Given the description of an element on the screen output the (x, y) to click on. 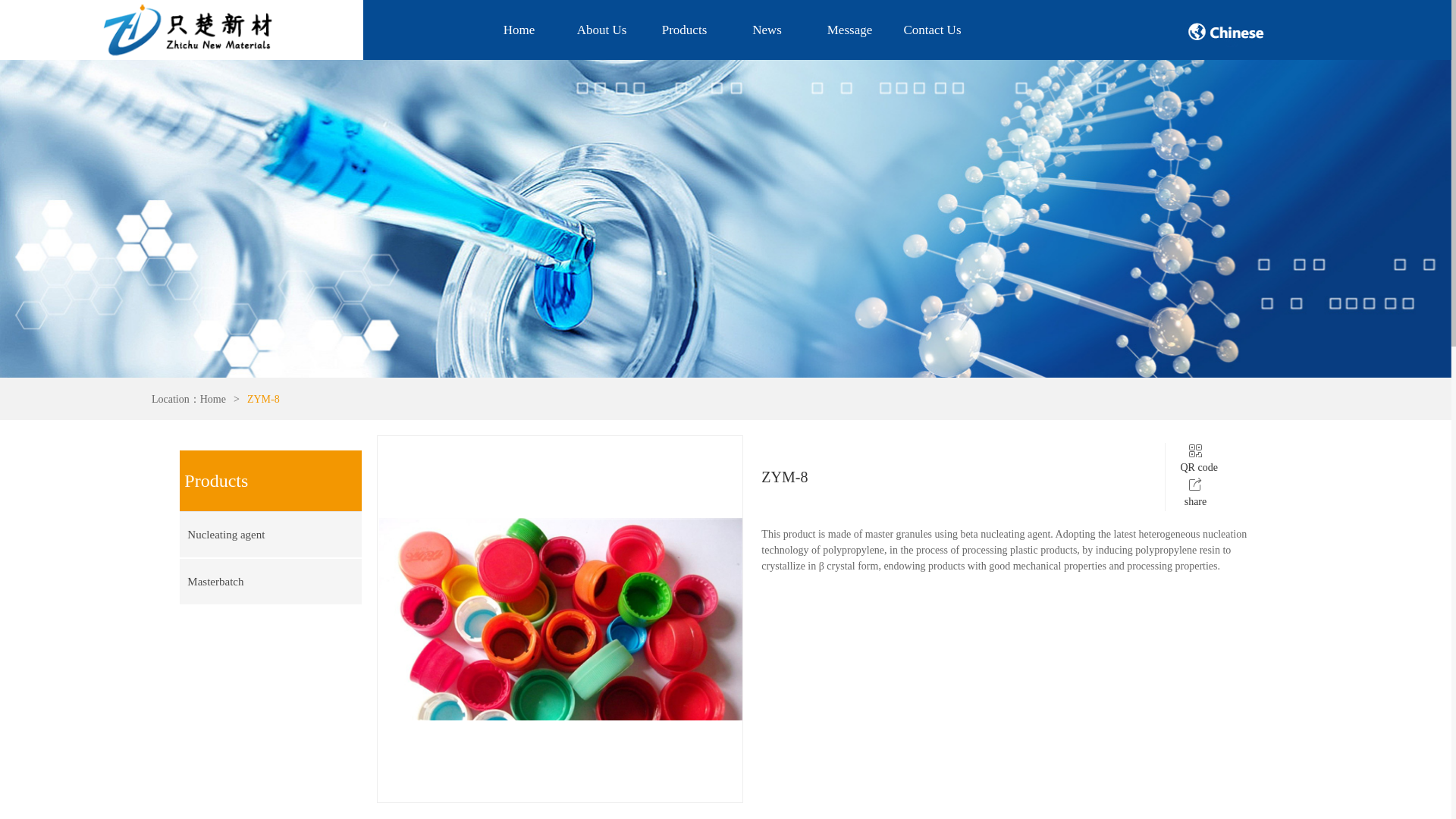
Products (683, 29)
Home (212, 399)
ZYM-8 (263, 399)
About Us (600, 29)
Home (518, 29)
Contact Us (932, 29)
News (766, 29)
Masterbatch (260, 581)
Message (849, 29)
Nucleating agent (260, 534)
